Given the description of an element on the screen output the (x, y) to click on. 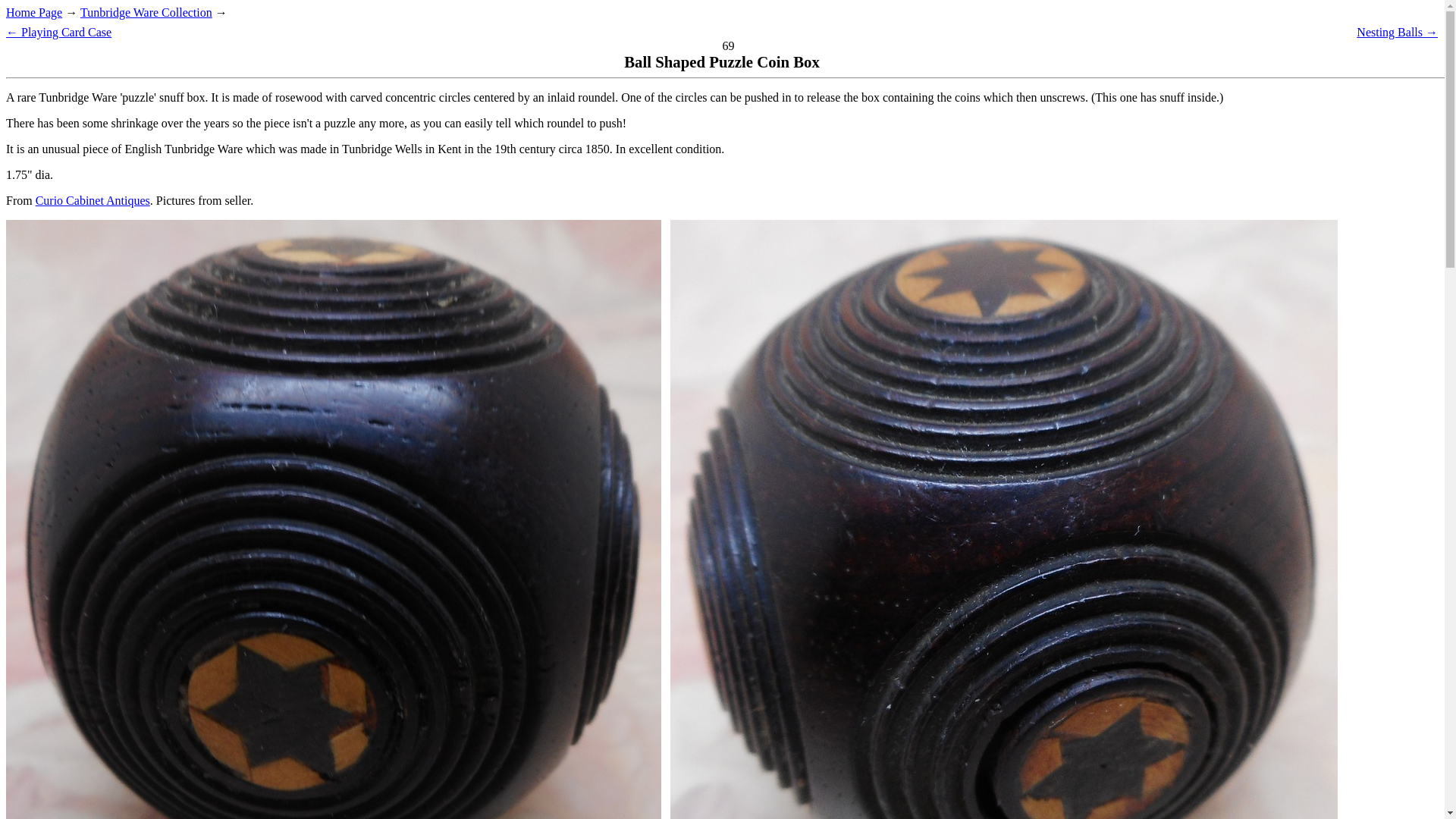
Curio Cabinet Antiques (91, 200)
Home Page (33, 11)
Go to Previous (58, 31)
Tunbridge Ware Collection (146, 11)
